Given the description of an element on the screen output the (x, y) to click on. 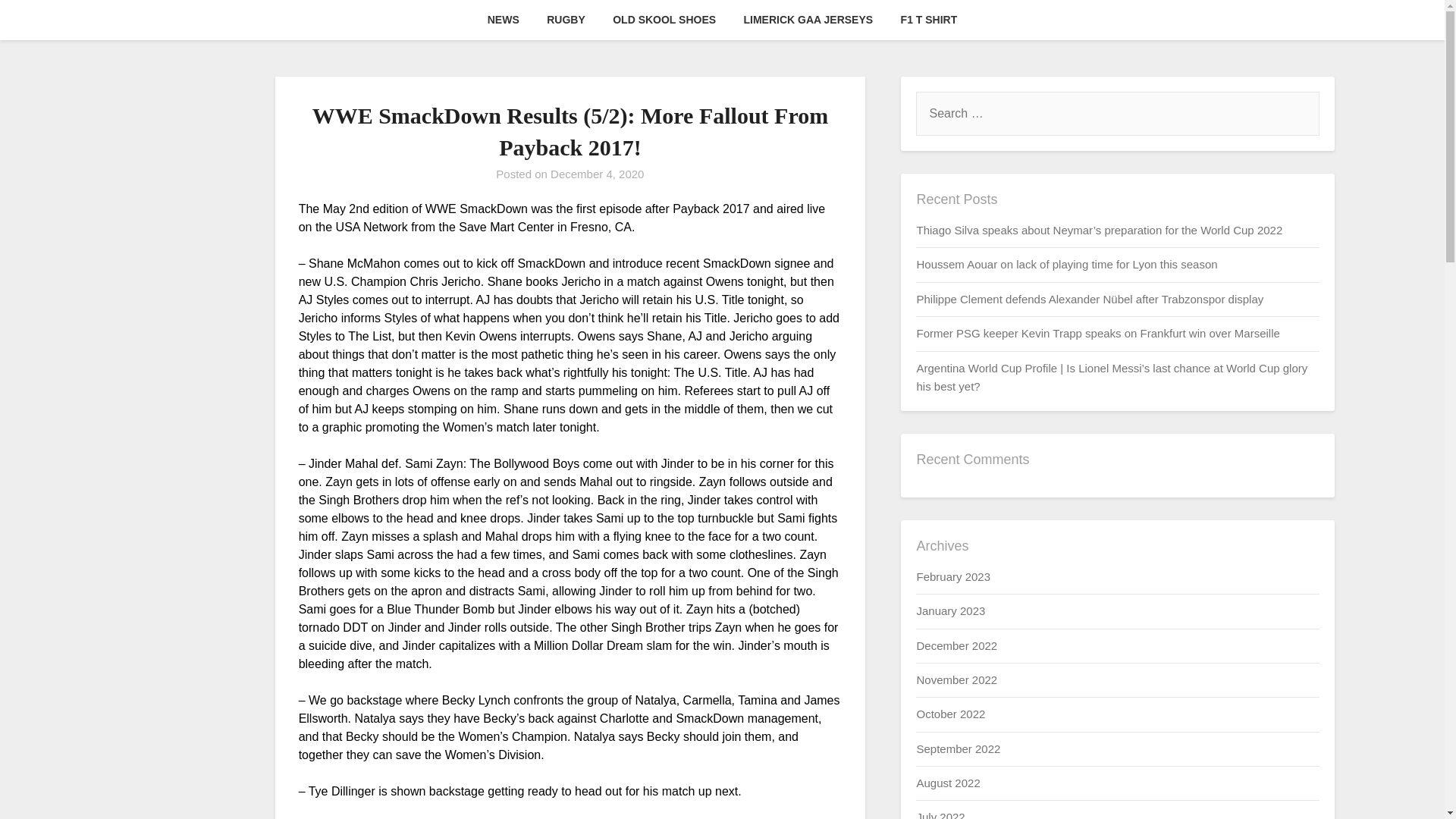
December 2022 (956, 644)
Houssem Aouar on lack of playing time for Lyon this season (1066, 264)
Search (37, 22)
February 2023 (952, 576)
December 4, 2020 (596, 173)
August 2022 (947, 782)
October 2022 (950, 713)
OLD SKOOL SHOES (663, 20)
July 2022 (939, 814)
RUGBY (565, 20)
NEWS (503, 20)
January 2023 (950, 610)
September 2022 (957, 748)
LIMERICK GAA JERSEYS (808, 20)
